Given the description of an element on the screen output the (x, y) to click on. 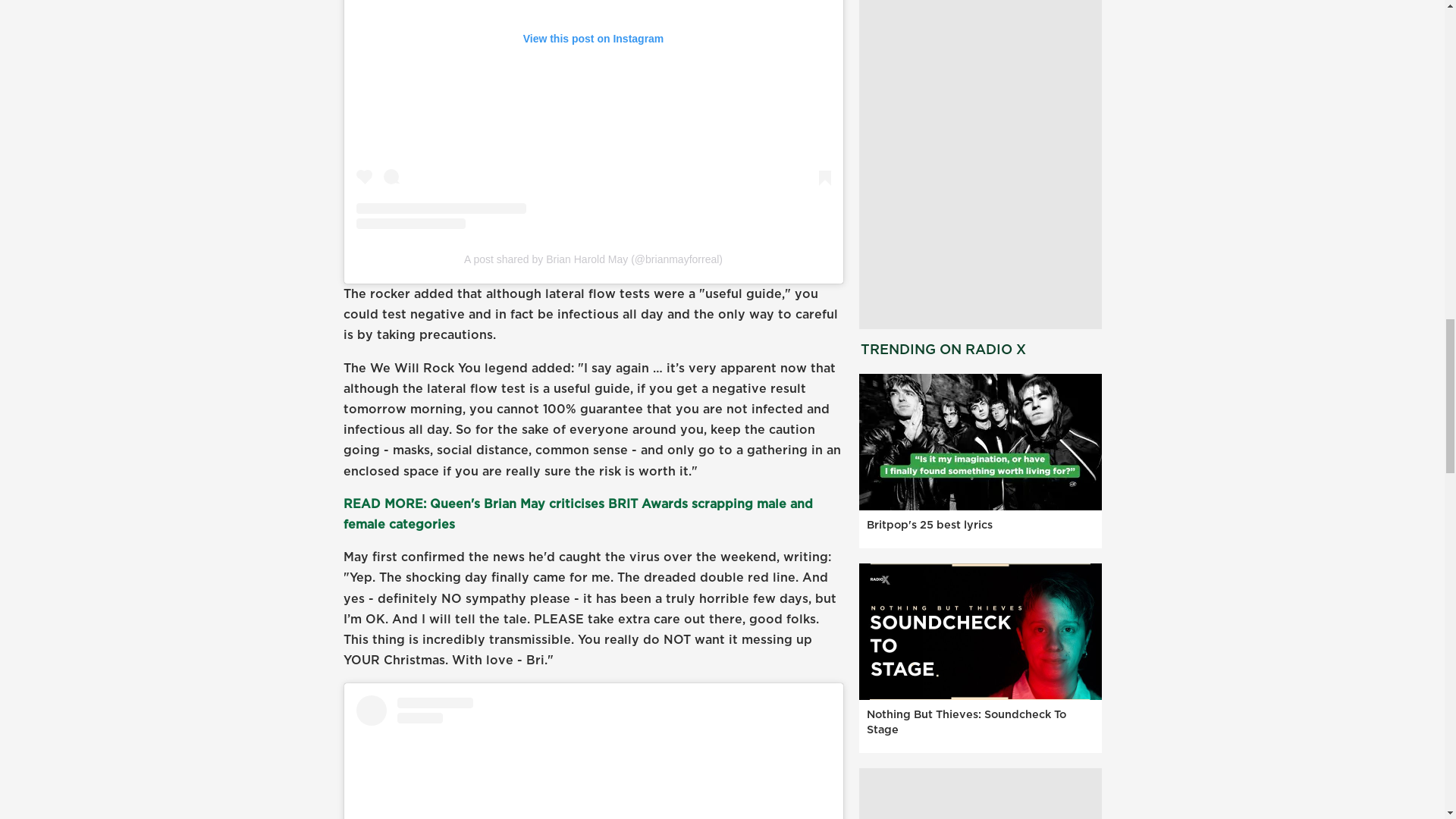
View this post on Instagram (593, 114)
View this post on Instagram (593, 757)
